Given the description of an element on the screen output the (x, y) to click on. 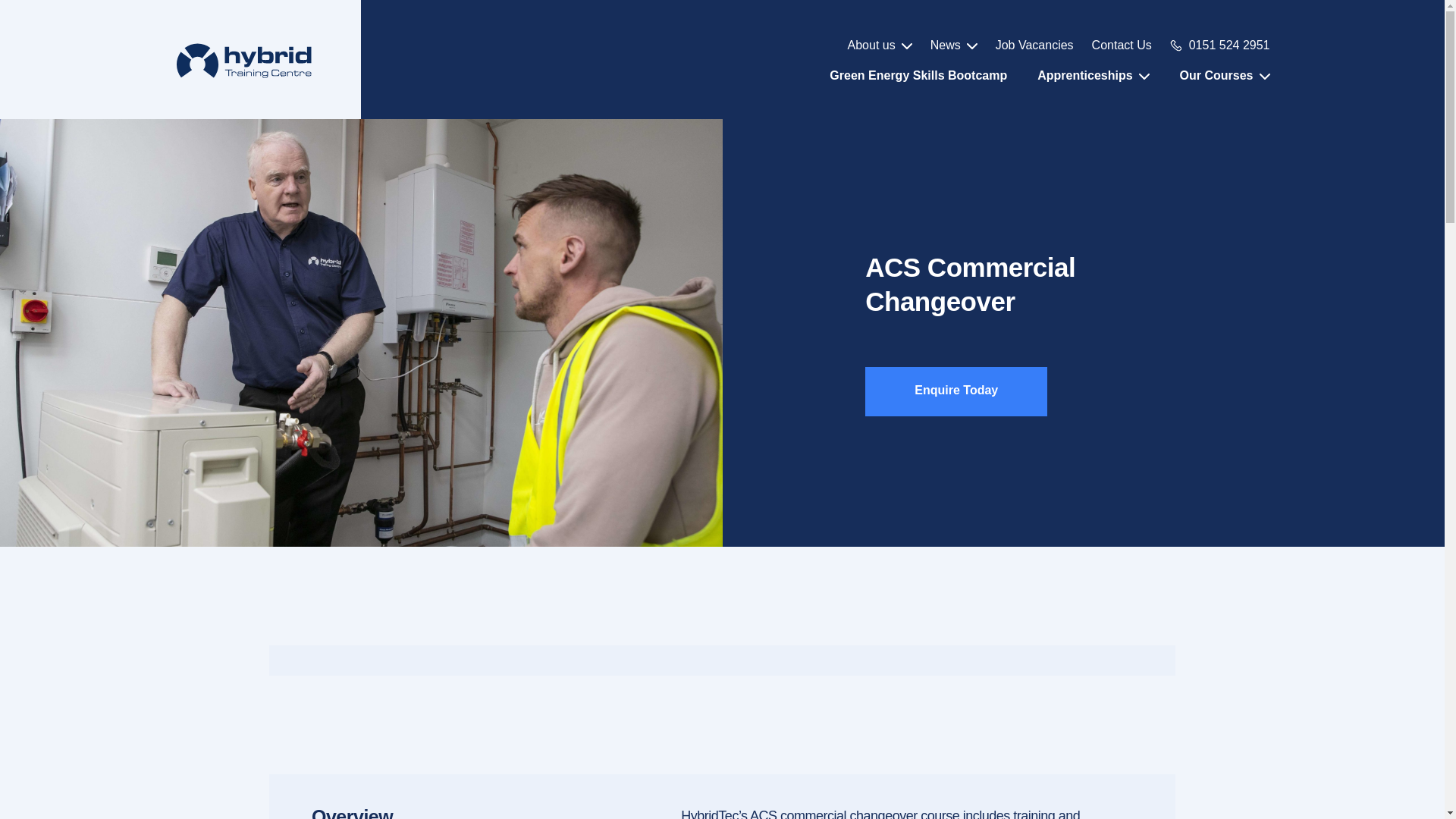
Our Courses (1224, 75)
Apprenticeships (1092, 75)
Green Energy Skills Bootcamp (918, 75)
News (953, 45)
0151 524 2951 (1229, 45)
Contact Us (1121, 45)
Job Vacancies (1034, 45)
About us (879, 45)
